Given the description of an element on the screen output the (x, y) to click on. 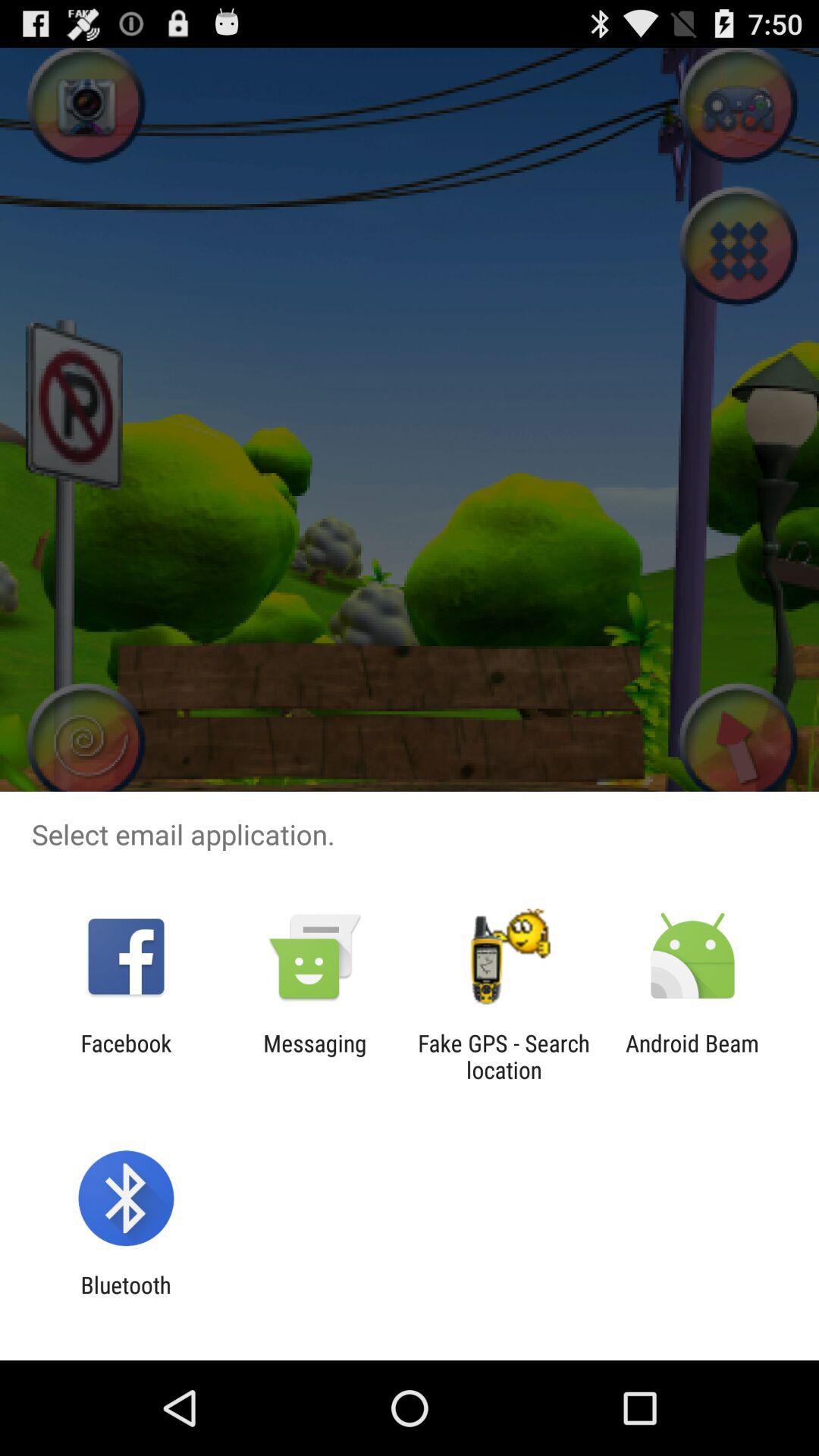
press android beam icon (692, 1056)
